Given the description of an element on the screen output the (x, y) to click on. 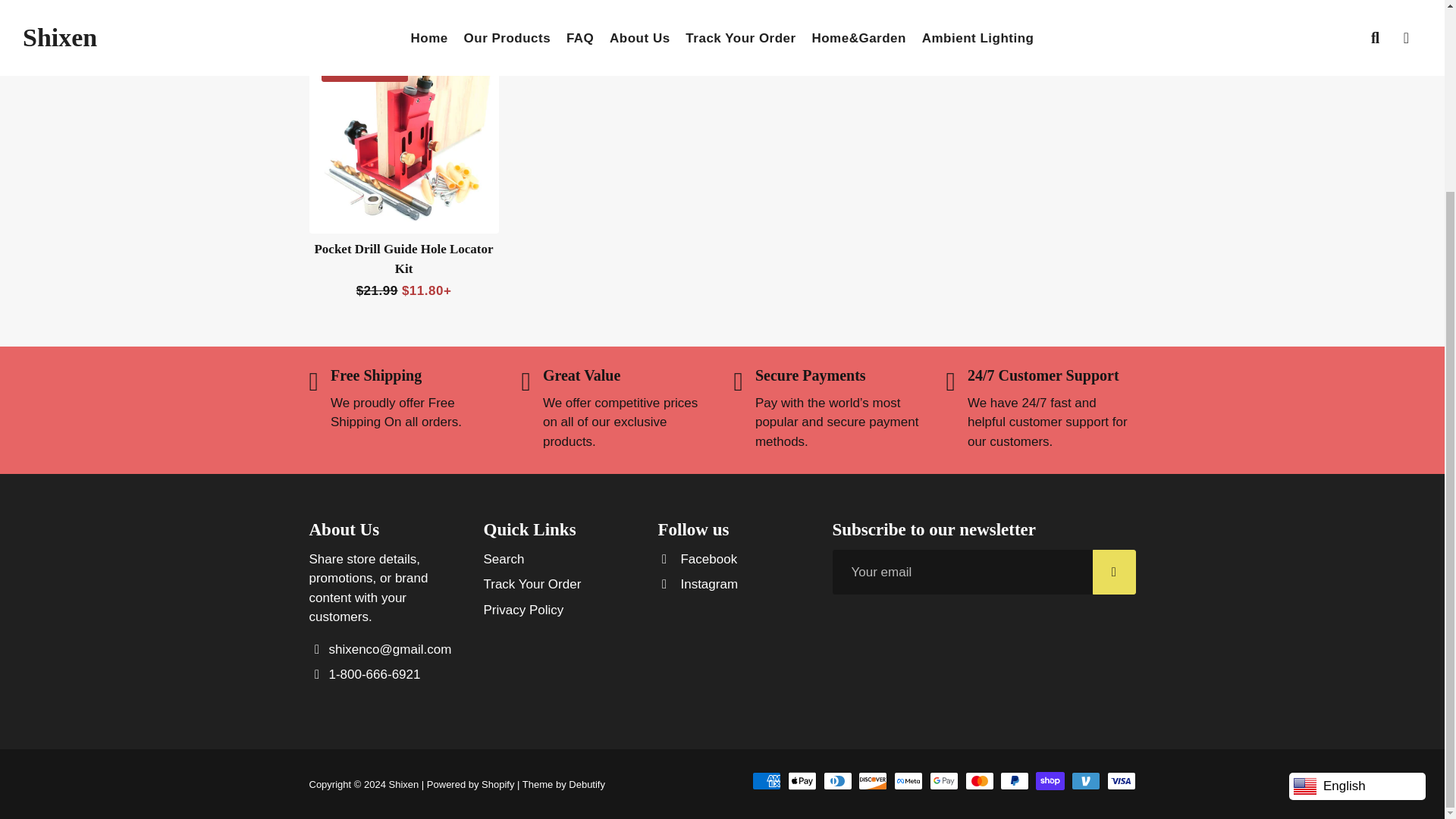
Shop Pay (1049, 781)
Privacy Policy (523, 609)
American Express (766, 781)
Diners Club (837, 781)
Instagram (698, 584)
1-800-666-6921 (364, 674)
Facebook (698, 559)
Shixen on Instagram (698, 584)
PayPal (1014, 781)
Meta Pay (908, 781)
Visa (1120, 781)
Apple Pay (801, 781)
Track Your Order (531, 584)
Discover (872, 781)
Mastercard (979, 781)
